Given the description of an element on the screen output the (x, y) to click on. 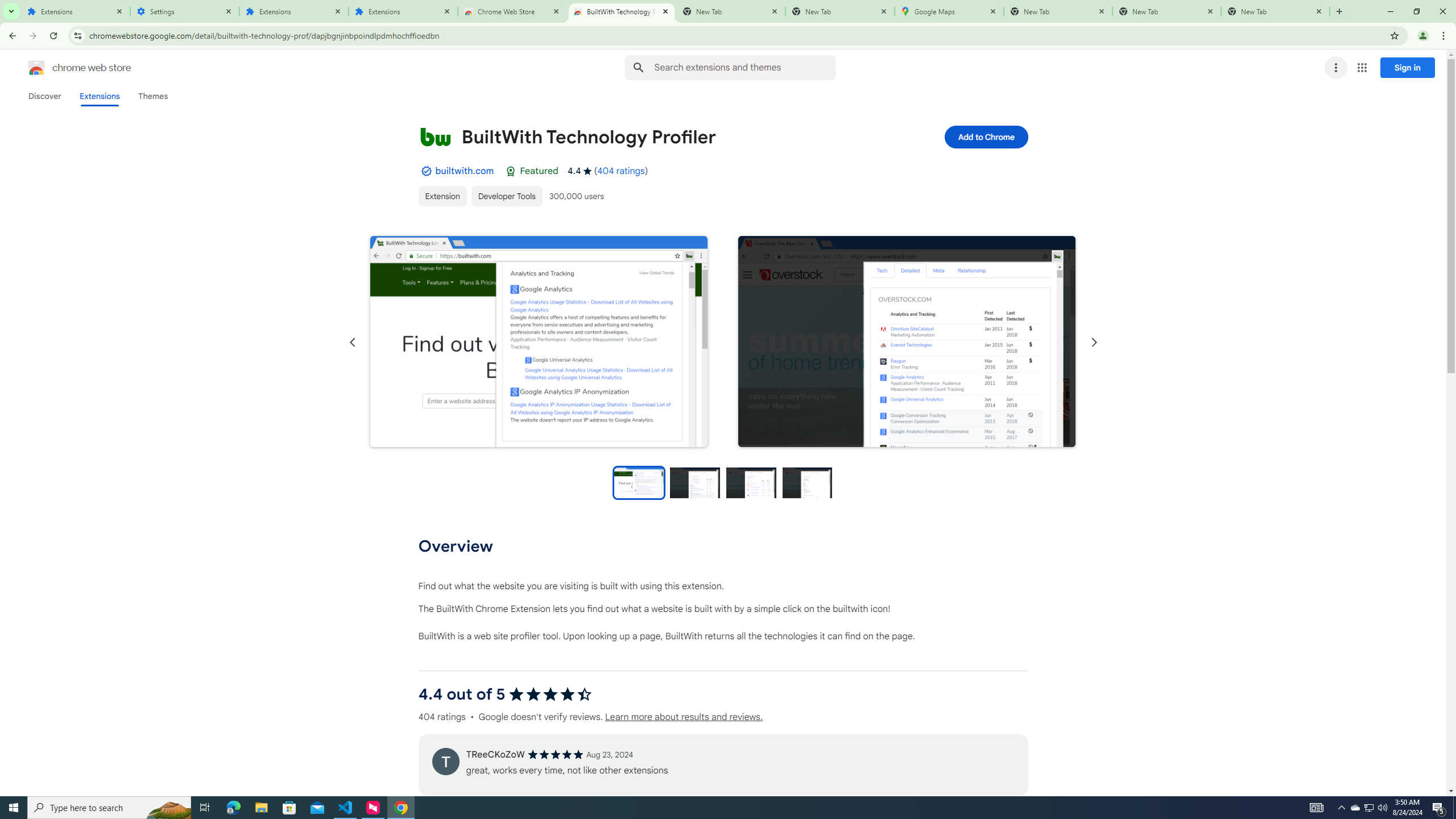
builtwith.com (464, 170)
Learn more about results and reviews. (683, 716)
Search input (744, 67)
Preview slide 4 (807, 482)
5 out of 5 stars (555, 753)
More options menu (1335, 67)
Developer Tools (506, 195)
Extensions (75, 11)
Item logo image for BuiltWith Technology Profiler (434, 136)
Themes (152, 95)
Featured Badge (510, 170)
Item media 1 screenshot (538, 341)
BuiltWith Technology Profiler - Chrome Web Store (621, 11)
